Given the description of an element on the screen output the (x, y) to click on. 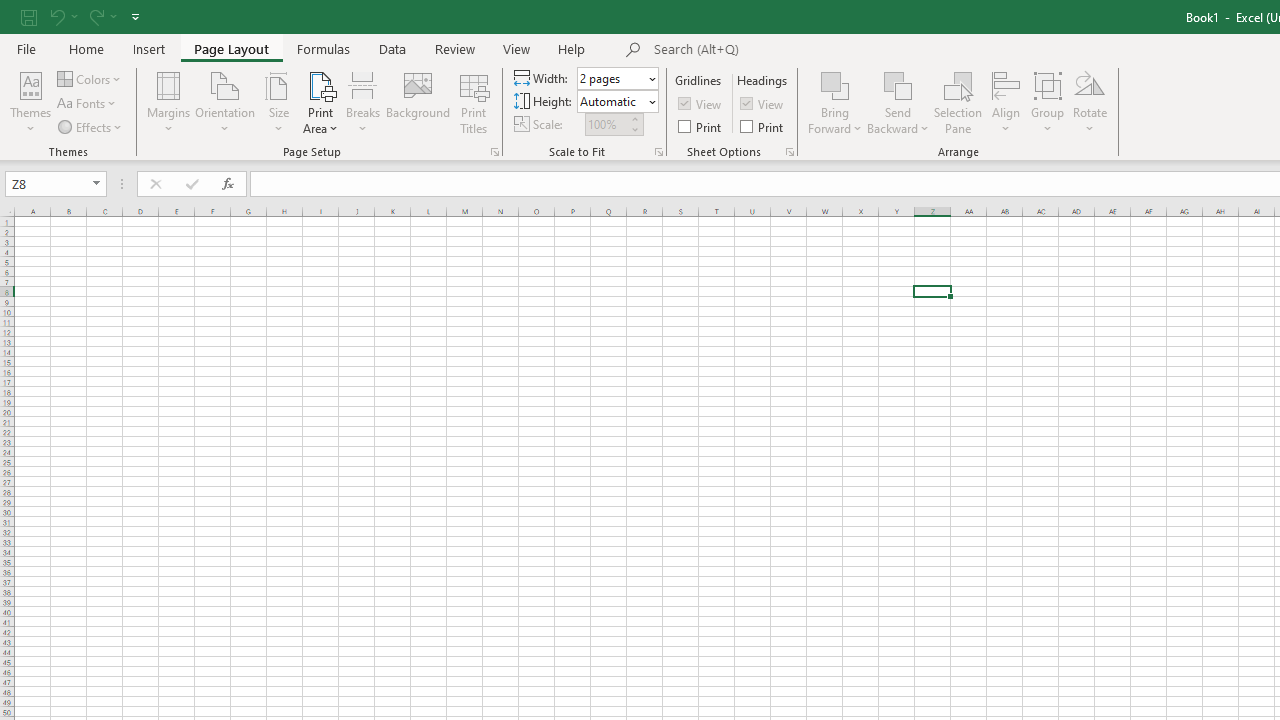
Height (611, 101)
Bring Forward (835, 102)
Align (1005, 102)
Size (278, 102)
Height (618, 101)
Width (618, 78)
Send Backward (898, 84)
Colors (90, 78)
Print (763, 126)
